Given the description of an element on the screen output the (x, y) to click on. 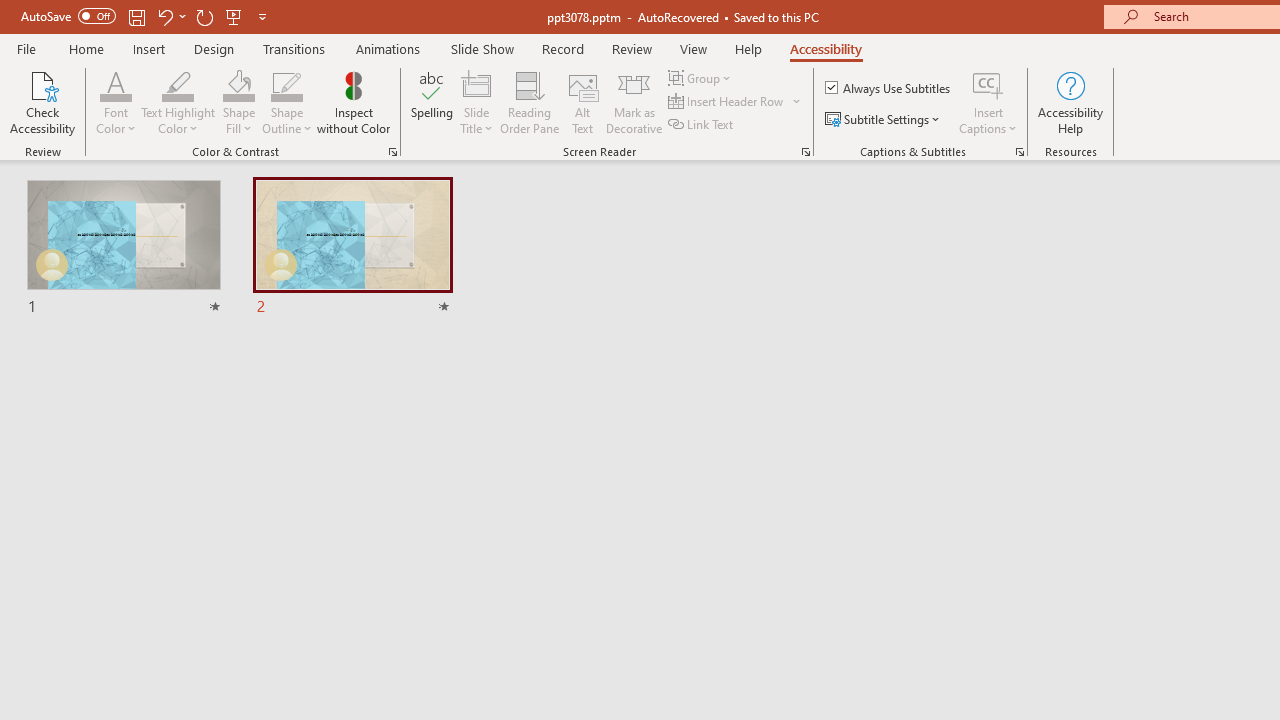
Reading Order Pane (529, 102)
Insert Header Row (735, 101)
Inspect without Color (353, 102)
